Given the description of an element on the screen output the (x, y) to click on. 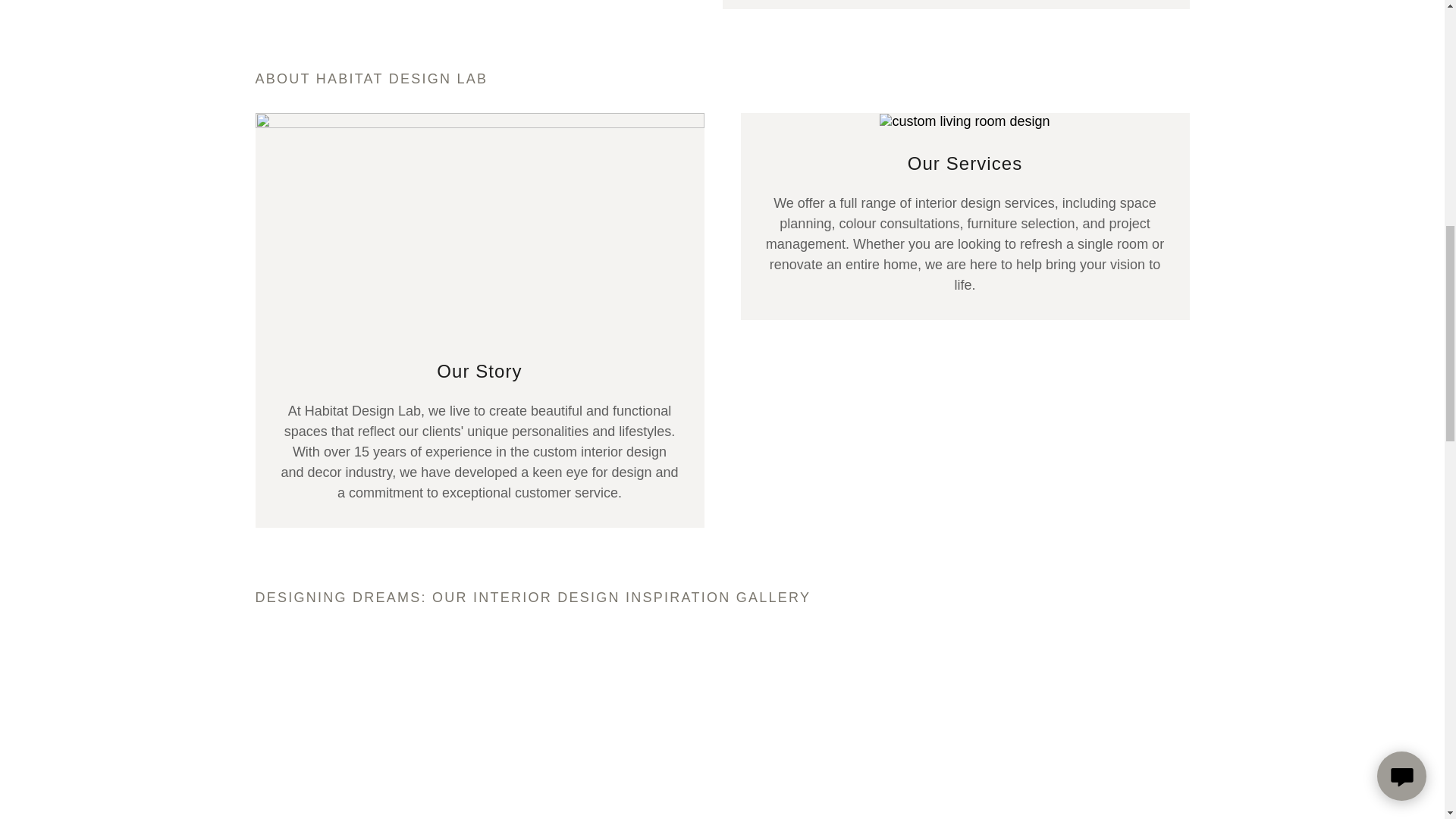
ACCEPT (1274, 324)
